Given the description of an element on the screen output the (x, y) to click on. 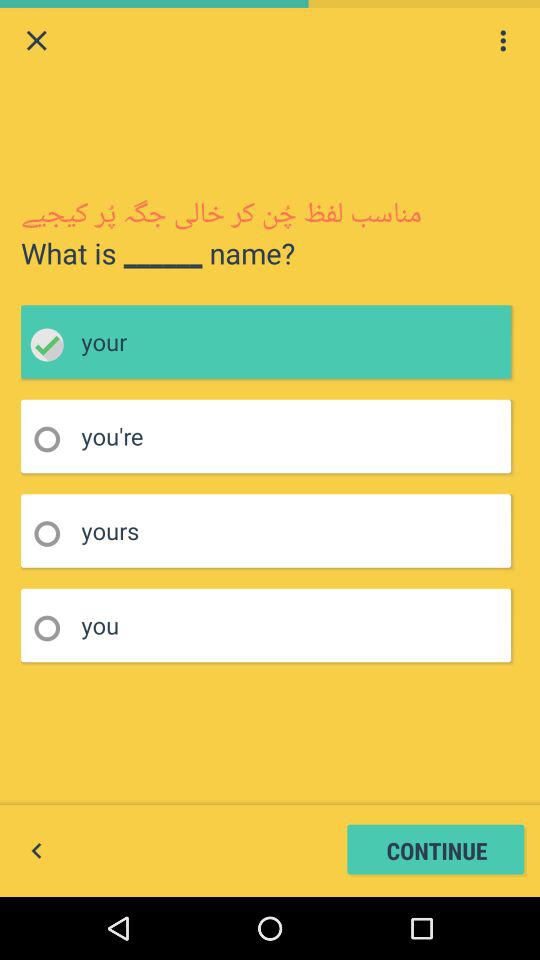
show options (503, 40)
